Given the description of an element on the screen output the (x, y) to click on. 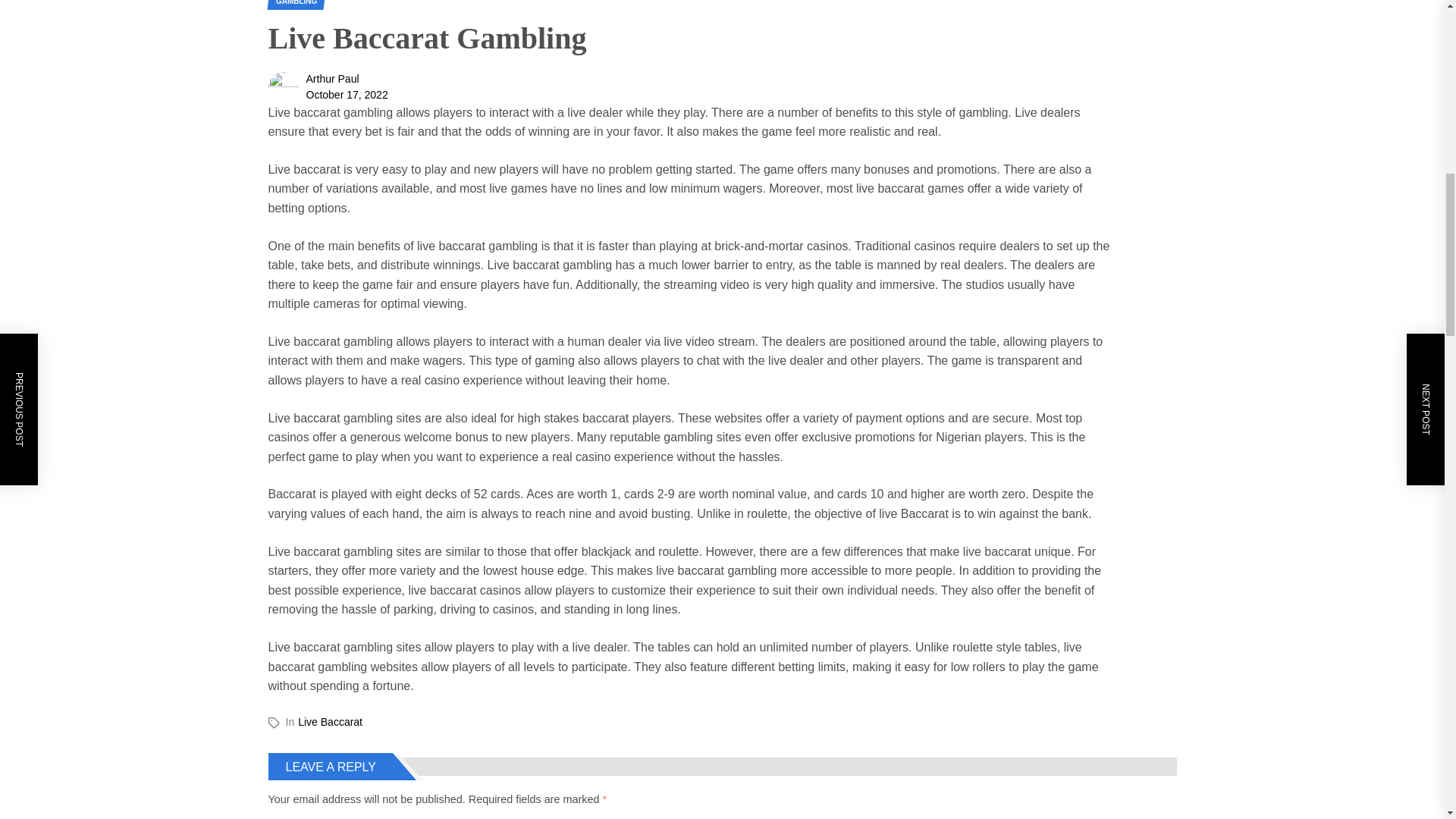
GAMBLING (294, 4)
October 17, 2022 (346, 94)
Arthur Paul (332, 78)
Live Baccarat (330, 721)
